Given the description of an element on the screen output the (x, y) to click on. 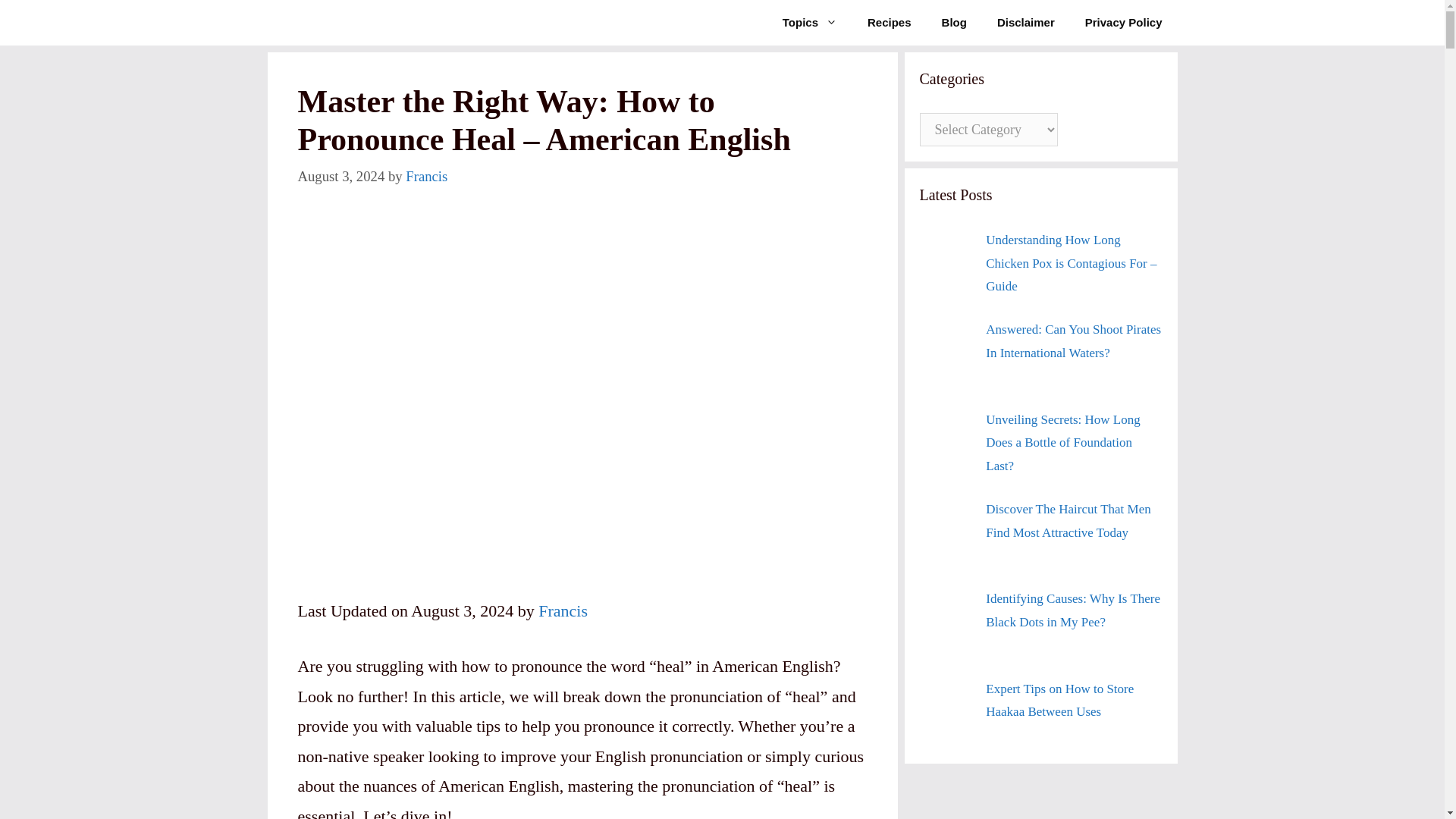
Francis (426, 176)
Disclaimer (1025, 22)
View all posts by Francis (426, 176)
Privacy Policy (1123, 22)
Francis (563, 610)
Blog (953, 22)
Recipes (888, 22)
Topics (809, 22)
